Given the description of an element on the screen output the (x, y) to click on. 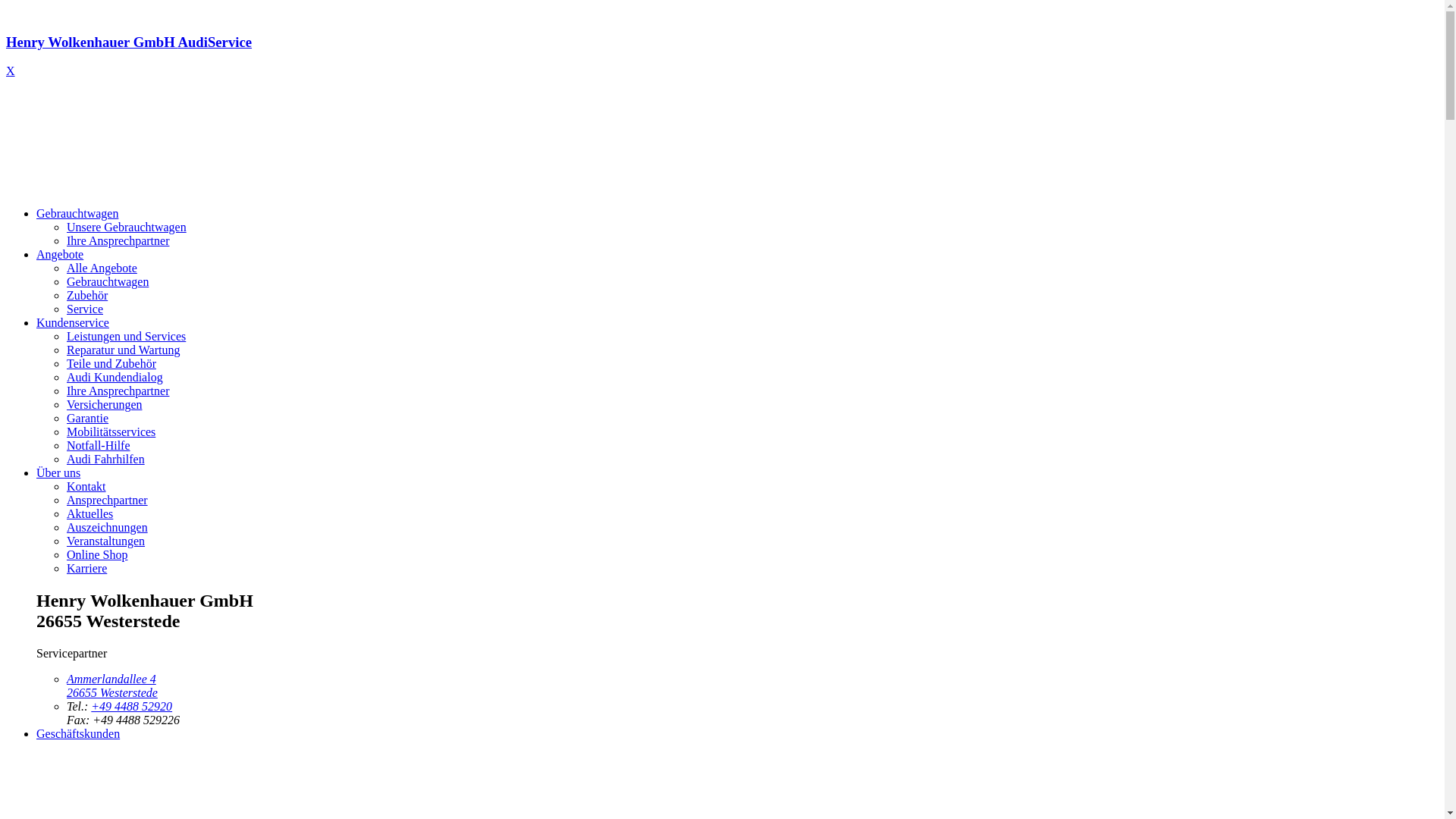
Leistungen und Services Element type: text (125, 335)
Henry Wolkenhauer GmbH AudiService Element type: text (722, 56)
Ihre Ansprechpartner Element type: text (117, 390)
X Element type: text (10, 70)
Ansprechpartner Element type: text (106, 499)
Audi Fahrhilfen Element type: text (105, 458)
Ammerlandallee 4
26655 Westerstede Element type: text (111, 685)
Service Element type: text (84, 308)
Veranstaltungen Element type: text (105, 540)
Unsere Gebrauchtwagen Element type: text (126, 226)
Karriere Element type: text (86, 567)
Versicherungen Element type: text (104, 404)
Alle Angebote Element type: text (101, 267)
Reparatur und Wartung Element type: text (122, 349)
Angebote Element type: text (59, 253)
Notfall-Hilfe Element type: text (98, 445)
Garantie Element type: text (87, 417)
Aktuelles Element type: text (89, 513)
Audi Kundendialog Element type: text (114, 376)
Auszeichnungen Element type: text (106, 526)
Ihre Ansprechpartner Element type: text (117, 240)
Gebrauchtwagen Element type: text (77, 213)
Kundenservice Element type: text (72, 322)
+49 4488 52920 Element type: text (131, 705)
Kontakt Element type: text (86, 486)
Online Shop Element type: text (96, 554)
Gebrauchtwagen Element type: text (107, 281)
